Given the description of an element on the screen output the (x, y) to click on. 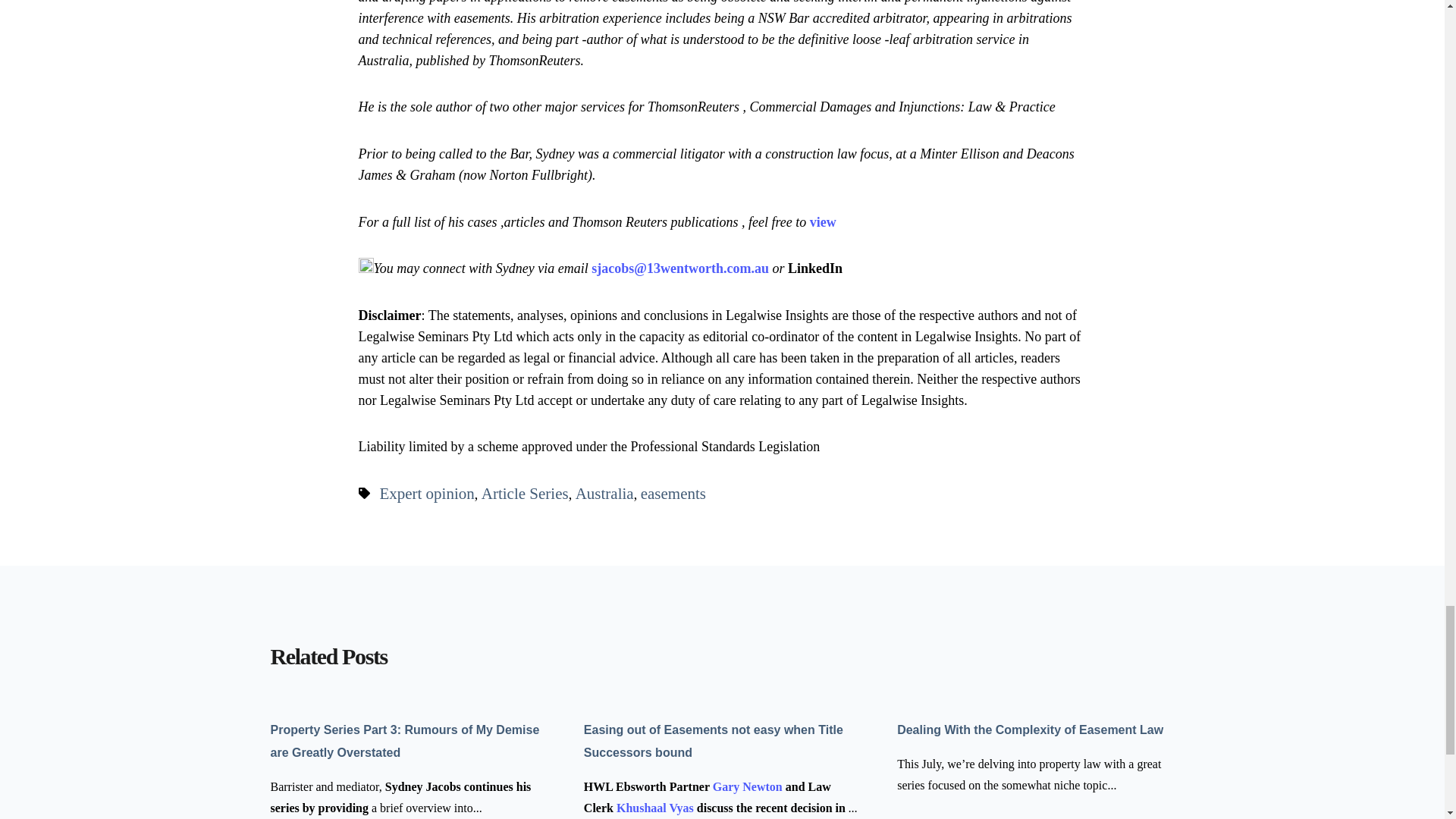
LinkedIn (815, 268)
Expert opinion (426, 493)
view (822, 222)
